Given the description of an element on the screen output the (x, y) to click on. 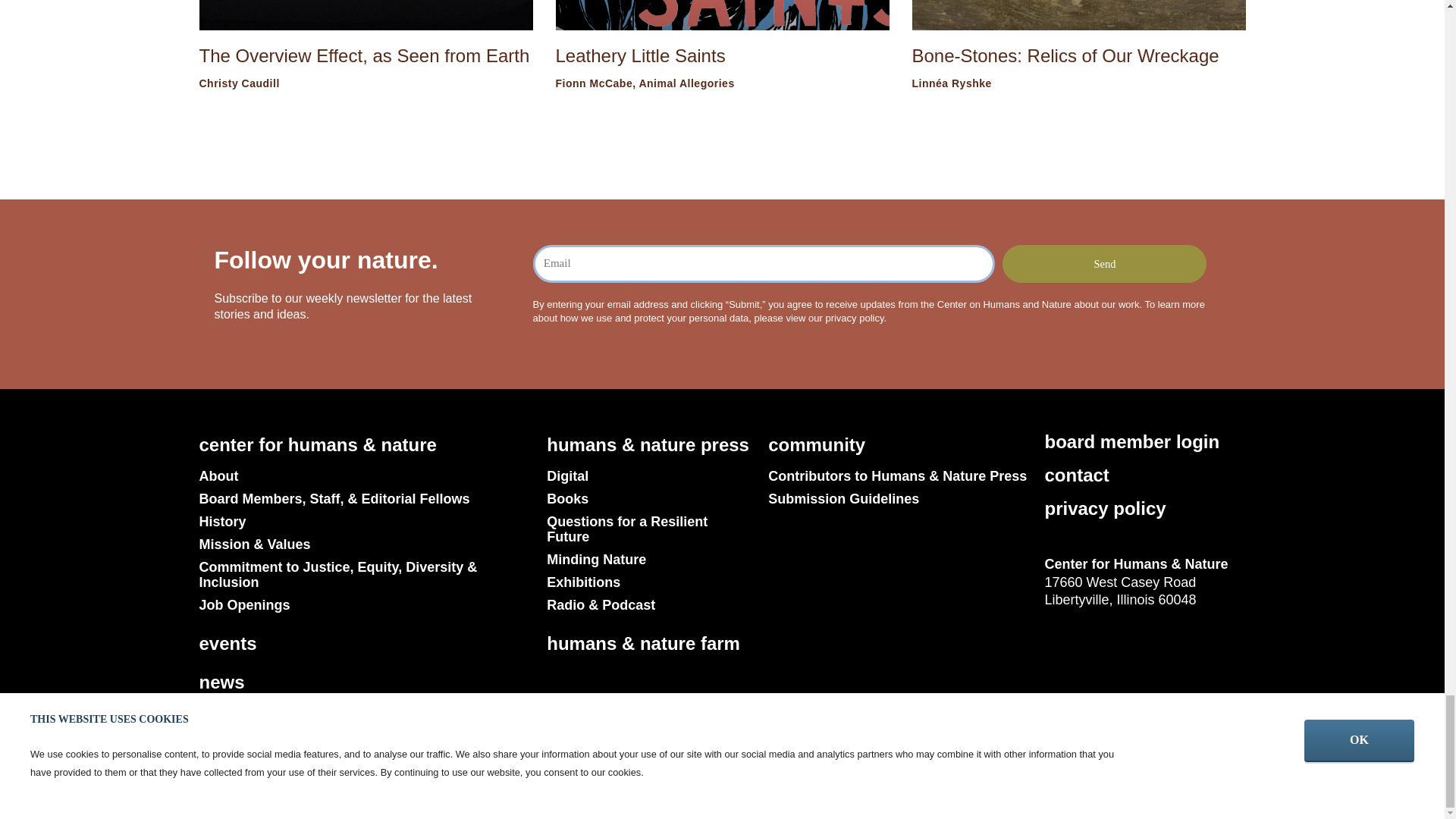
Digital (649, 476)
events (227, 643)
Leathery Little Saints (639, 55)
Send (1105, 263)
History (364, 521)
About (364, 476)
Bone-Stones: Relics of Our Wreckage (1064, 55)
Job Openings (364, 604)
donate (228, 717)
news (221, 681)
The Overview Effect, as Seen from Earth (363, 55)
